Given the description of an element on the screen output the (x, y) to click on. 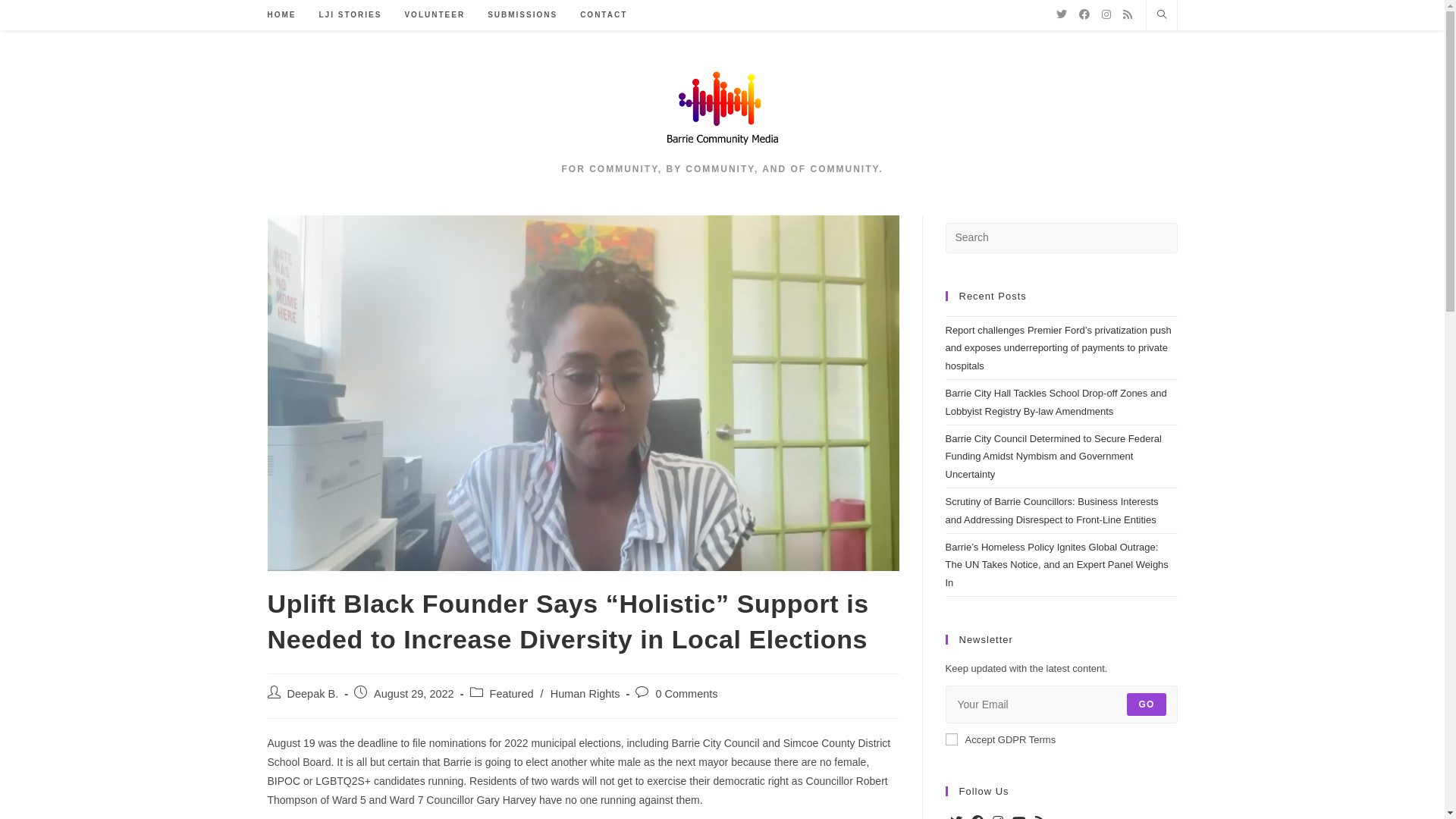
SUBMISSIONS Element type: text (522, 15)
0 Comments Element type: text (686, 693)
LJI STORIES Element type: text (350, 15)
Deepak B. Element type: text (312, 693)
GO Element type: text (1145, 704)
Human Rights Element type: text (585, 693)
Featured Element type: text (511, 693)
HOME Element type: text (281, 15)
VOLUNTEER Element type: text (434, 15)
CONTACT Element type: text (603, 15)
